Given the description of an element on the screen output the (x, y) to click on. 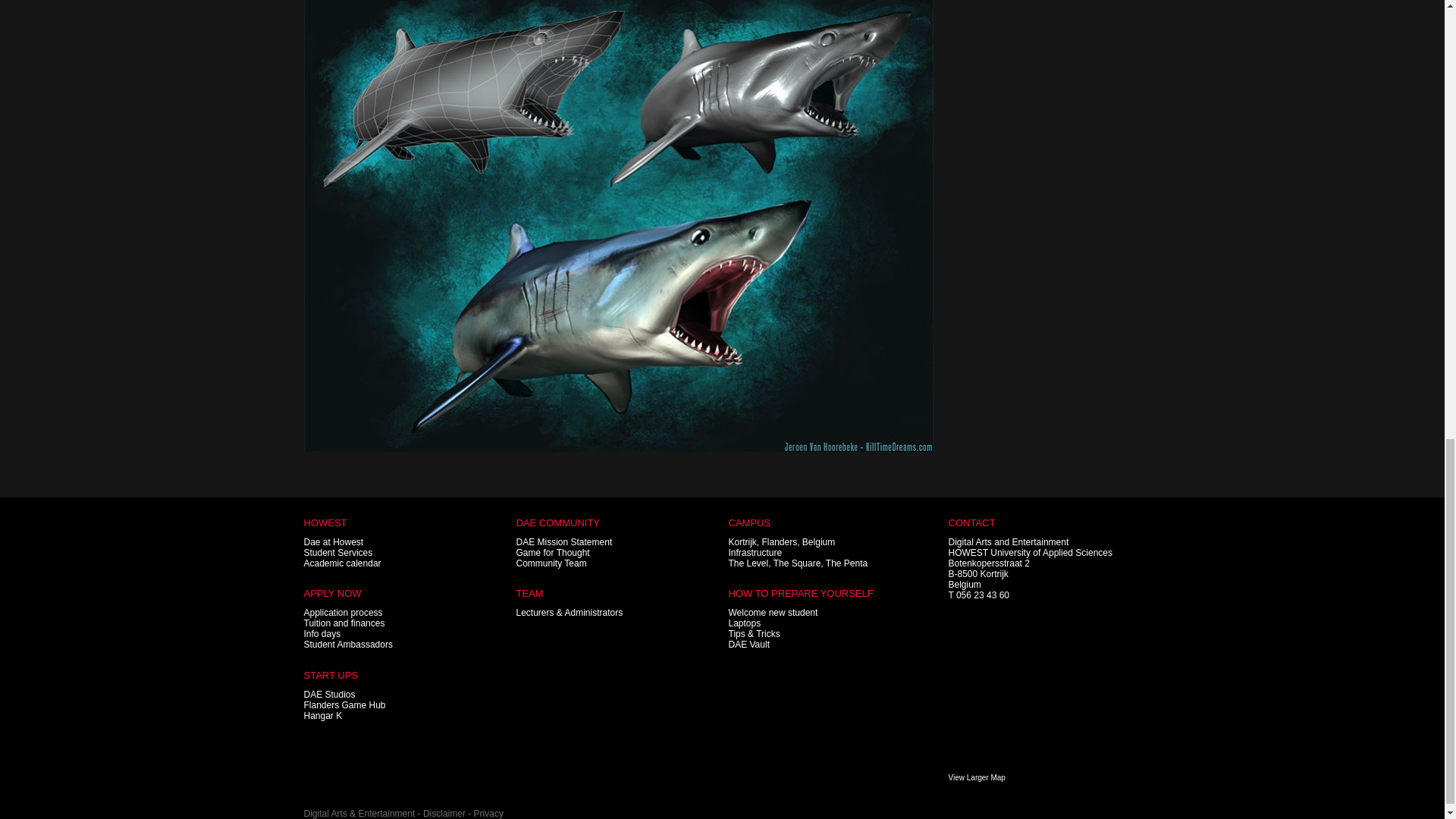
Kortrijk, Flanders, Belgium (781, 542)
Community Team (550, 562)
DAE Mission Statement (563, 542)
Dae at Howest (332, 542)
The Level, The Square, The Penta (797, 562)
Student Services (337, 552)
Academic calendar (341, 562)
Game for Thought (552, 552)
Infrastructure (754, 552)
